Given the description of an element on the screen output the (x, y) to click on. 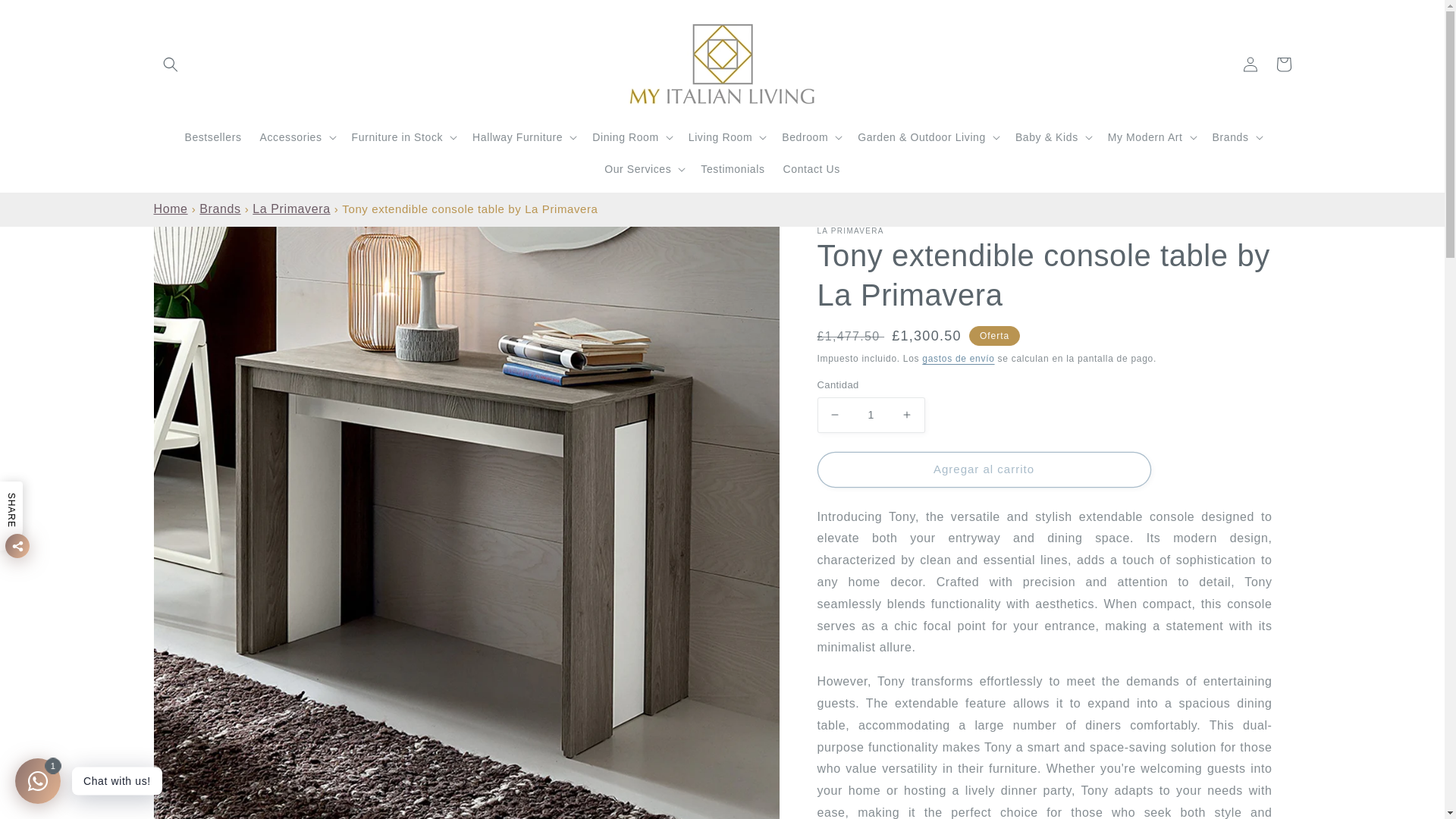
Brands (219, 208)
1 (870, 415)
Ir directamente al contenido (45, 17)
La Primavera (290, 208)
Home (169, 208)
